Given the description of an element on the screen output the (x, y) to click on. 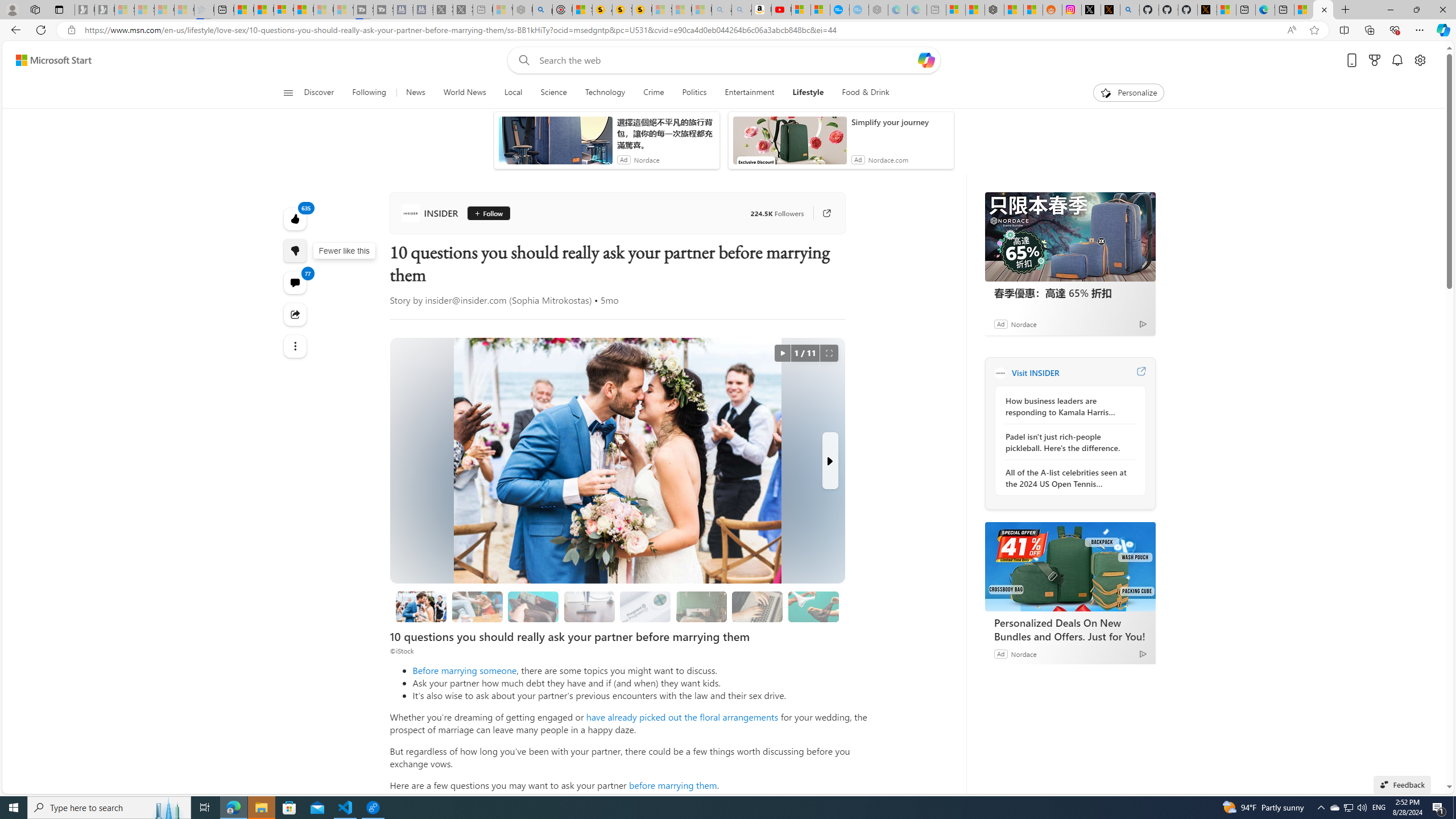
Back (13, 29)
Science (553, 92)
Politics (694, 92)
Food & Drink (860, 92)
Open Copilot (926, 59)
Personalized Deals On New Bundles and Offers. Just for You! (1069, 628)
INSIDER (1000, 372)
See more (295, 345)
Newsletter Sign Up - Sleeping (104, 9)
Collections (1369, 29)
github - Search (1129, 9)
Class: button-glyph (287, 92)
Simplify your journey (899, 121)
